Given the description of an element on the screen output the (x, y) to click on. 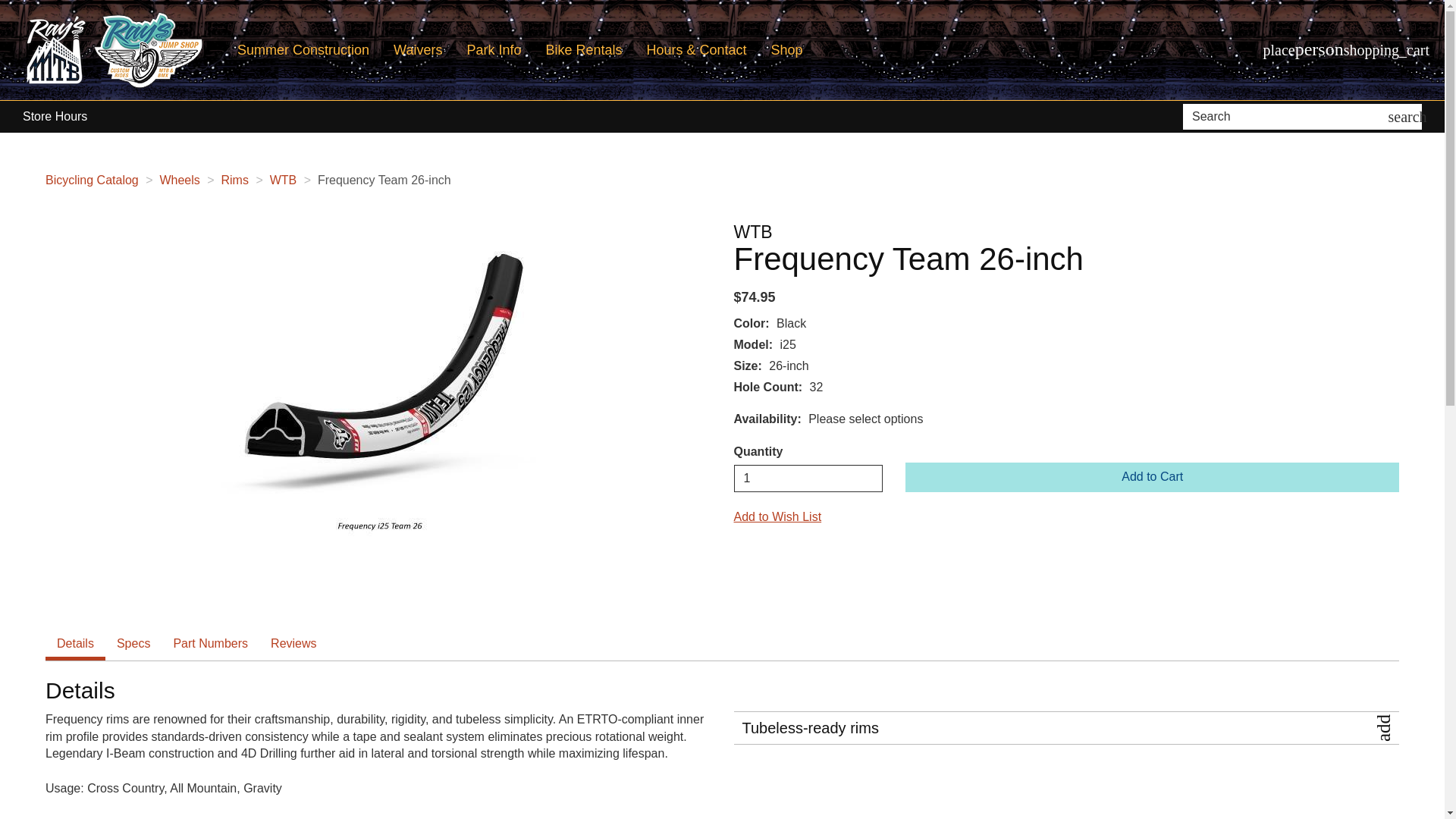
Summer Construction (302, 49)
1 (808, 478)
Rays Jump Shop (145, 49)
WTB Frequency Team 26-inch (378, 393)
Store Hours (55, 117)
Bike Rentals (583, 49)
Search (1287, 116)
